Given the description of an element on the screen output the (x, y) to click on. 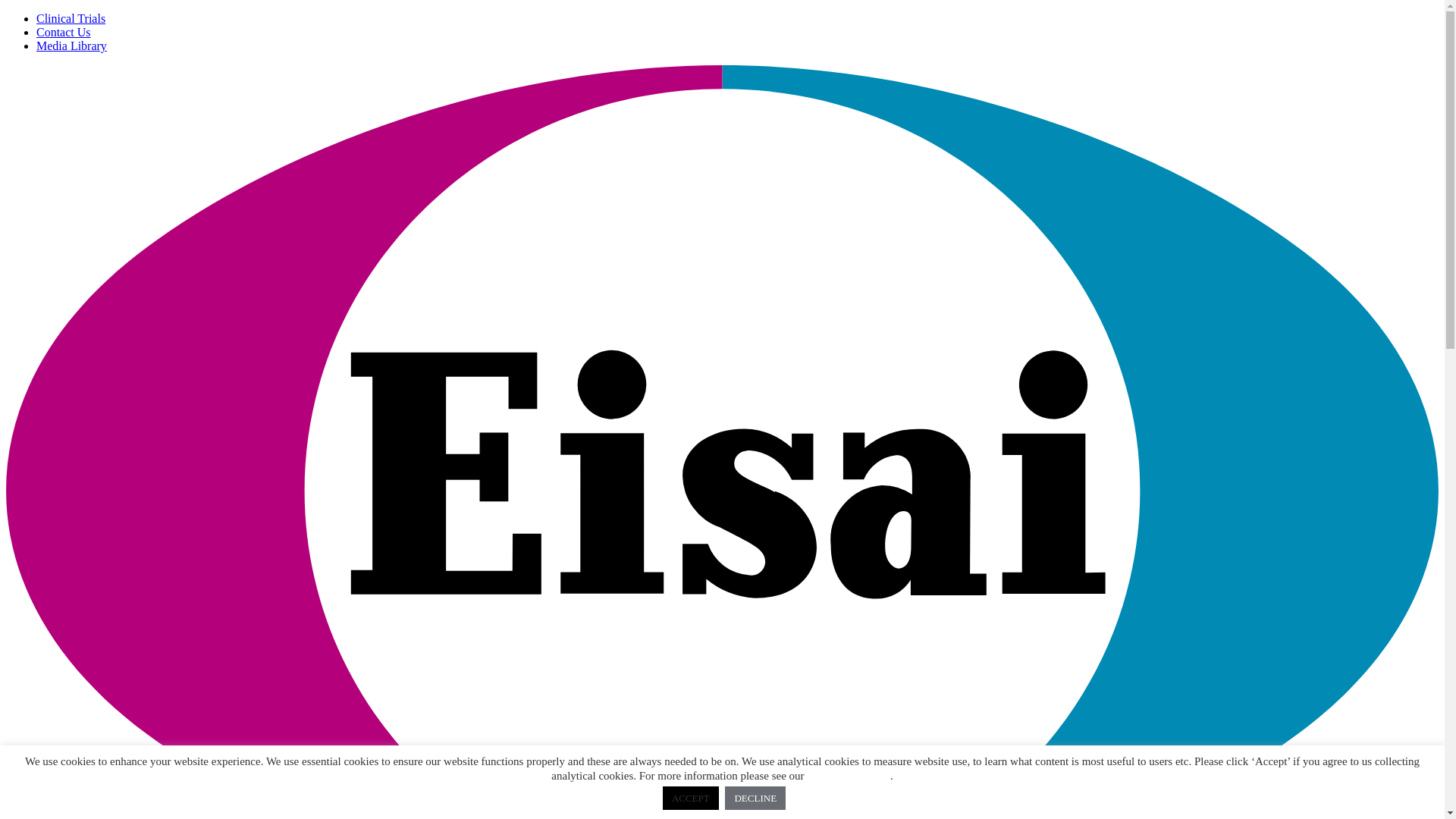
Privacy Statement Element type: text (848, 775)
Contact Us Element type: text (63, 31)
Media Library Element type: text (71, 45)
DECLINE Element type: text (754, 797)
Clinical Trials Element type: text (70, 18)
ACCEPT Element type: text (690, 797)
Skip to content Element type: text (5, 11)
